Given the description of an element on the screen output the (x, y) to click on. 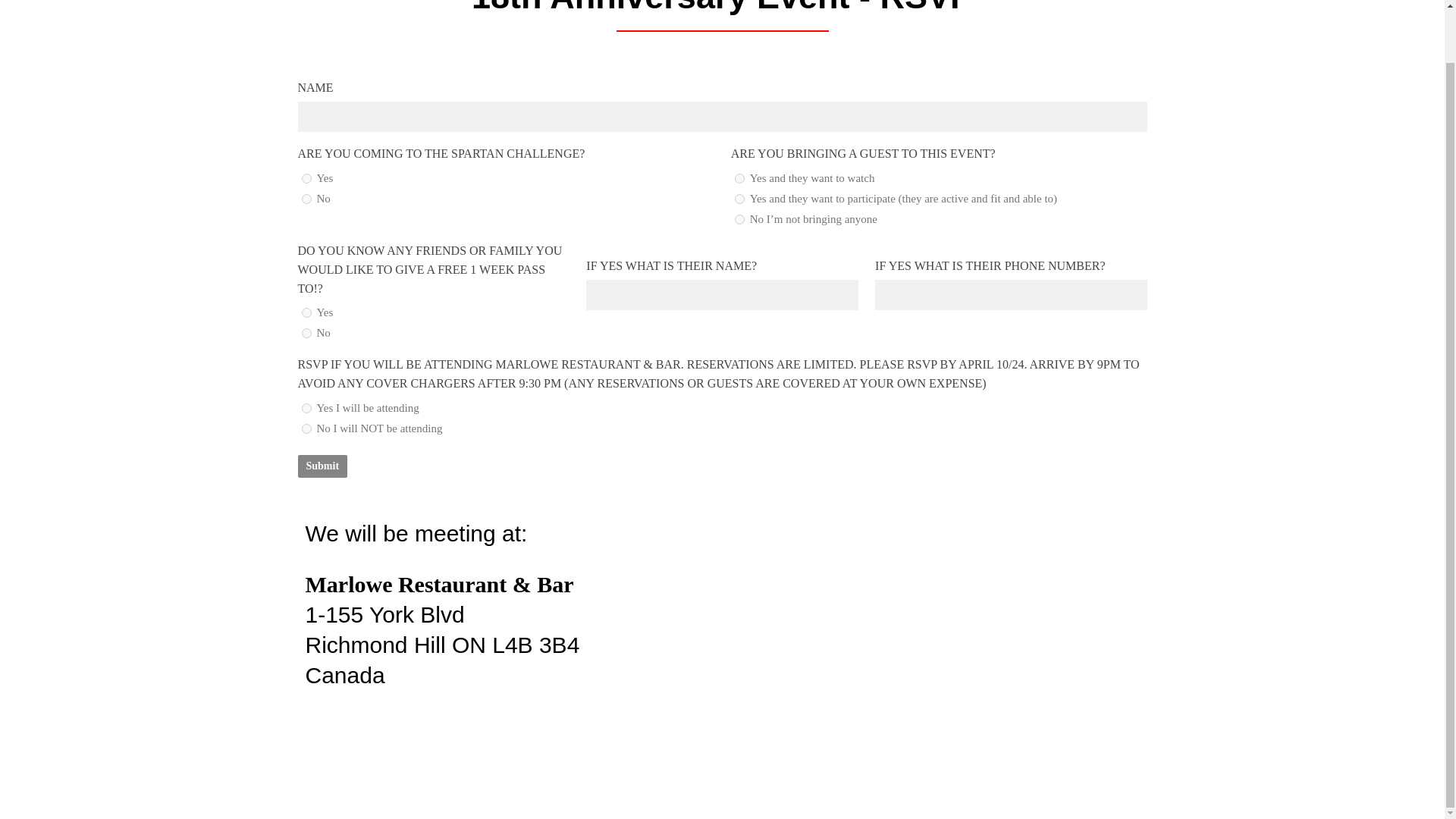
No I will NOT be attending (306, 429)
No (306, 333)
Yes (306, 178)
marlowe restaurant and bar (933, 632)
Submit (322, 466)
Submit (322, 466)
No (306, 198)
Yes I will be attending (306, 408)
Yes (306, 312)
Yes and they want to watch (739, 178)
